Given the description of an element on the screen output the (x, y) to click on. 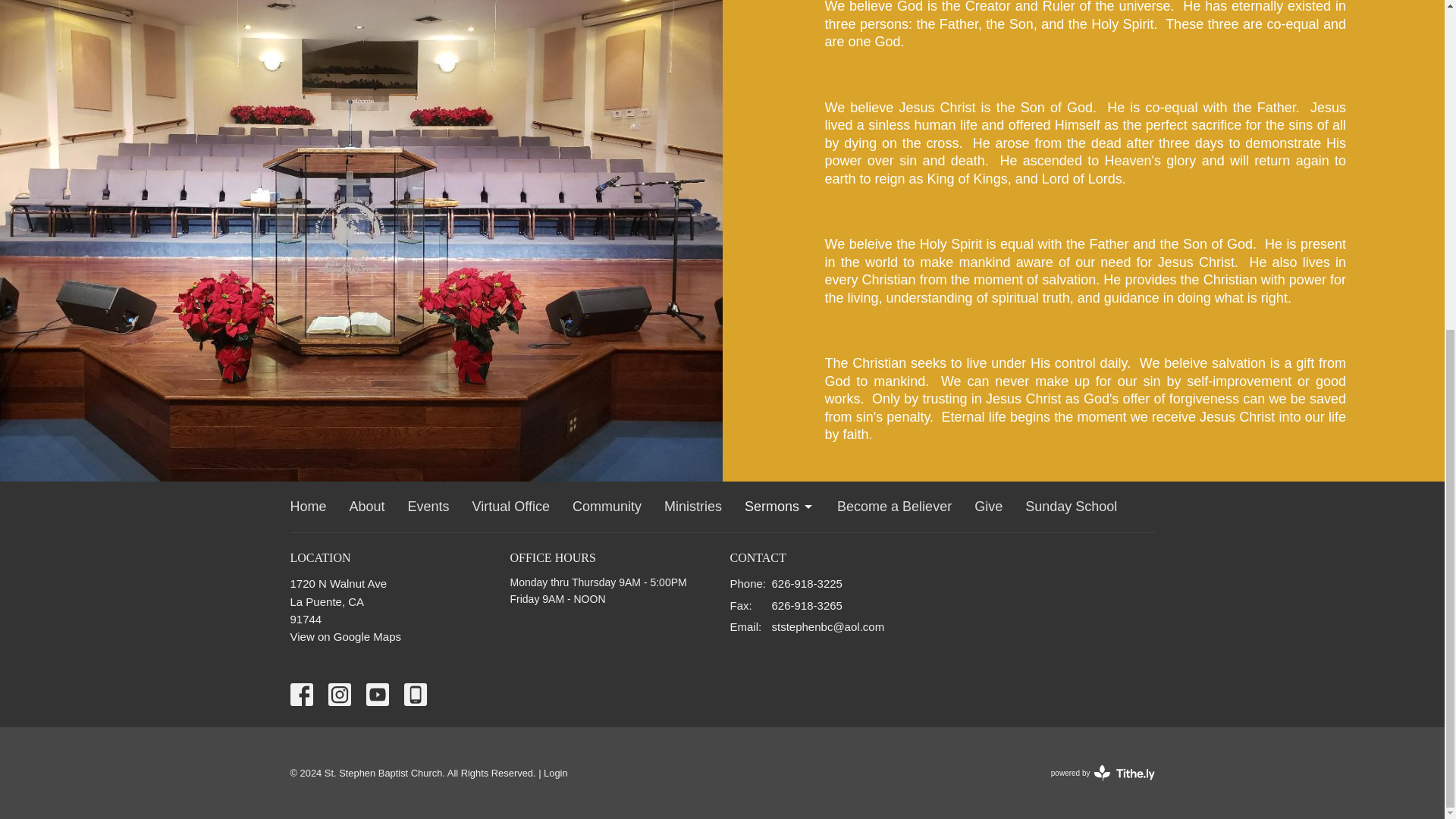
View on Google Maps (344, 635)
Virtual Office (510, 506)
Give (988, 506)
Community (607, 506)
translation missing: en.ui.email (743, 626)
Events (428, 506)
About (367, 506)
Sermons (778, 506)
Become a Believer (894, 506)
Sunday School (1070, 506)
626-918-3225 (807, 583)
Ministries (692, 506)
Home (307, 506)
